Given the description of an element on the screen output the (x, y) to click on. 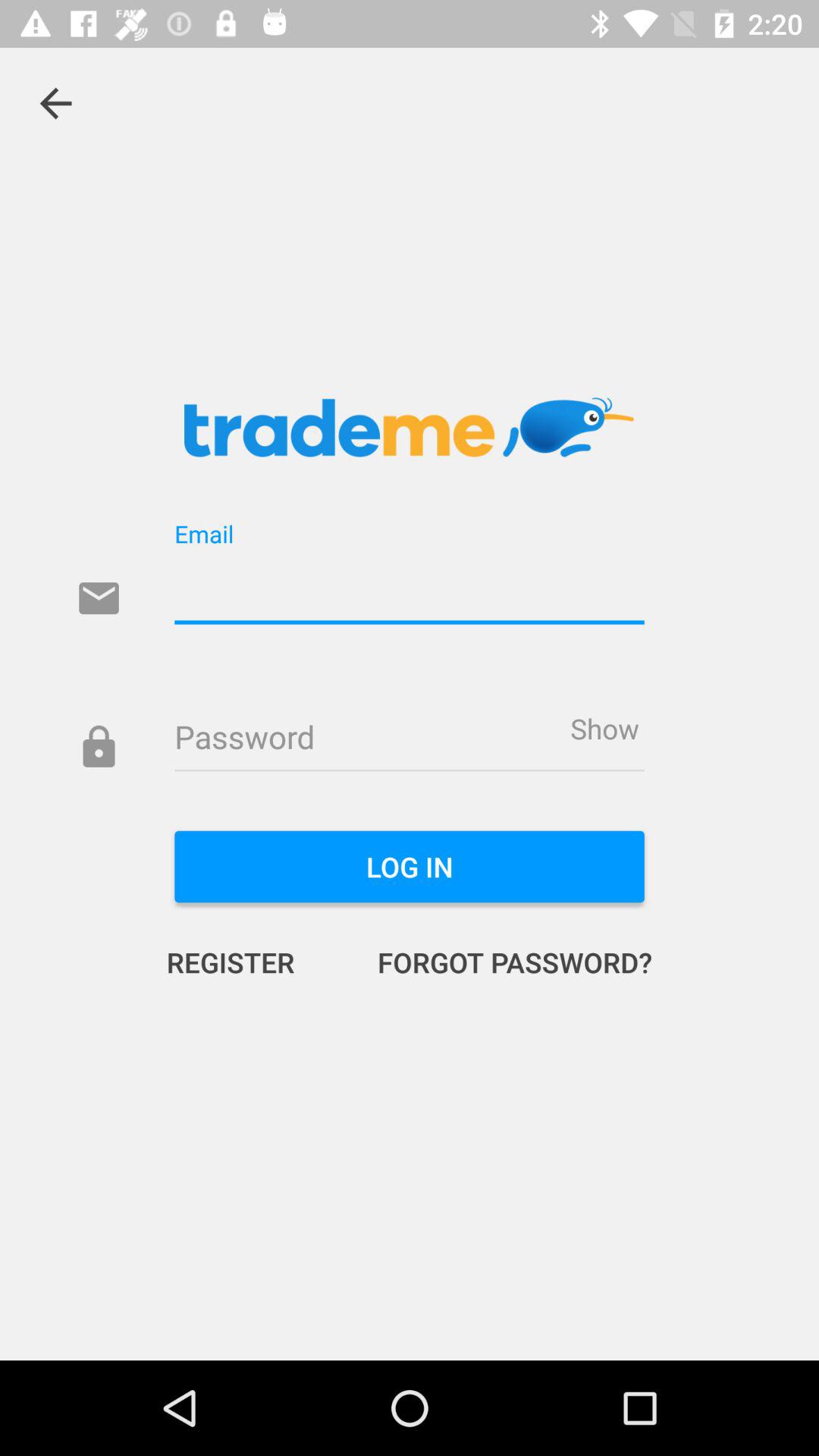
swipe to forgot password? icon (498, 962)
